Given the description of an element on the screen output the (x, y) to click on. 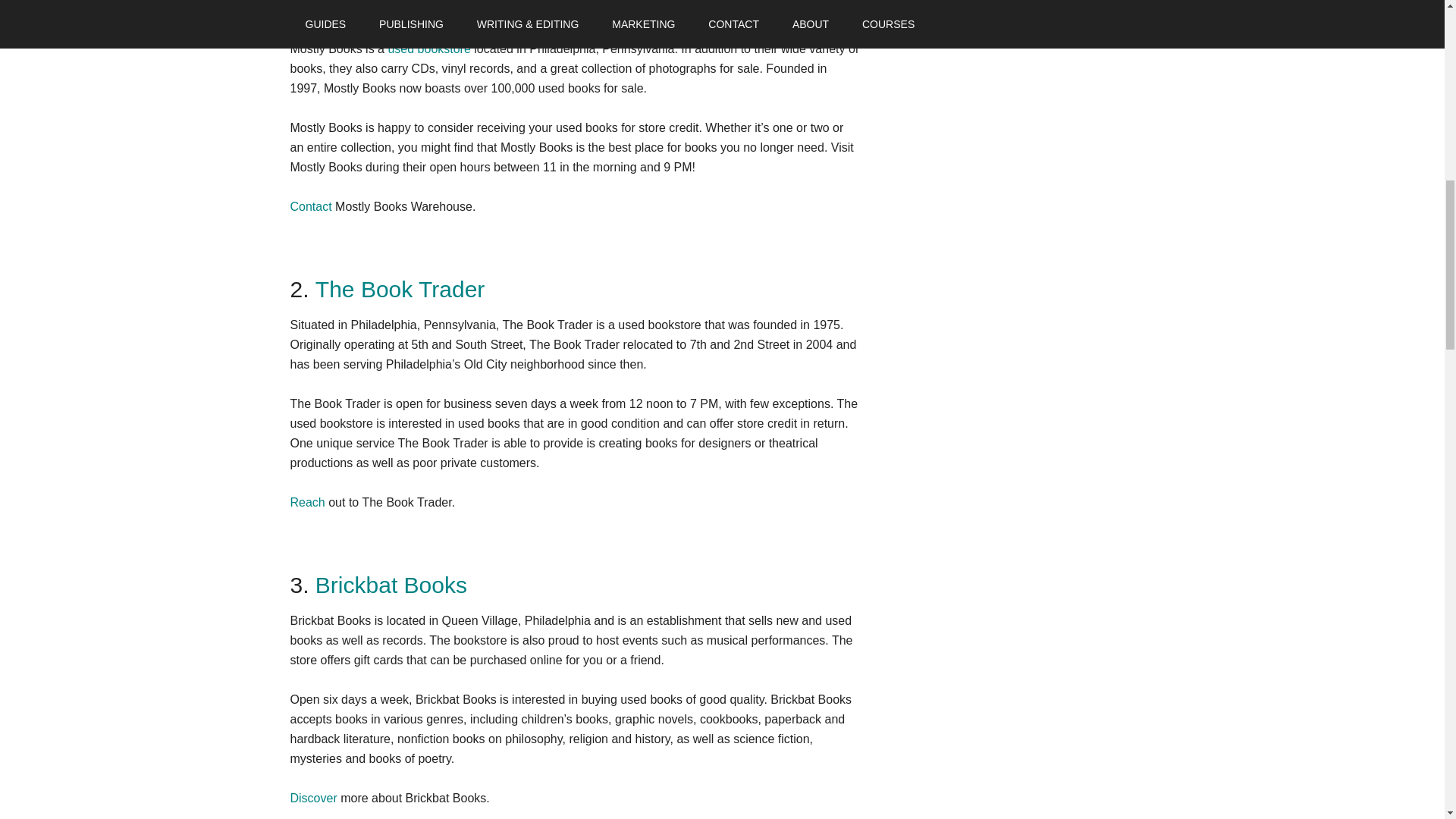
Discover (312, 797)
Brickbat Books (391, 584)
Reach (306, 502)
Mostly Books (382, 12)
Contact (310, 205)
The Book Trader (399, 289)
used bookstore (428, 48)
